Given the description of an element on the screen output the (x, y) to click on. 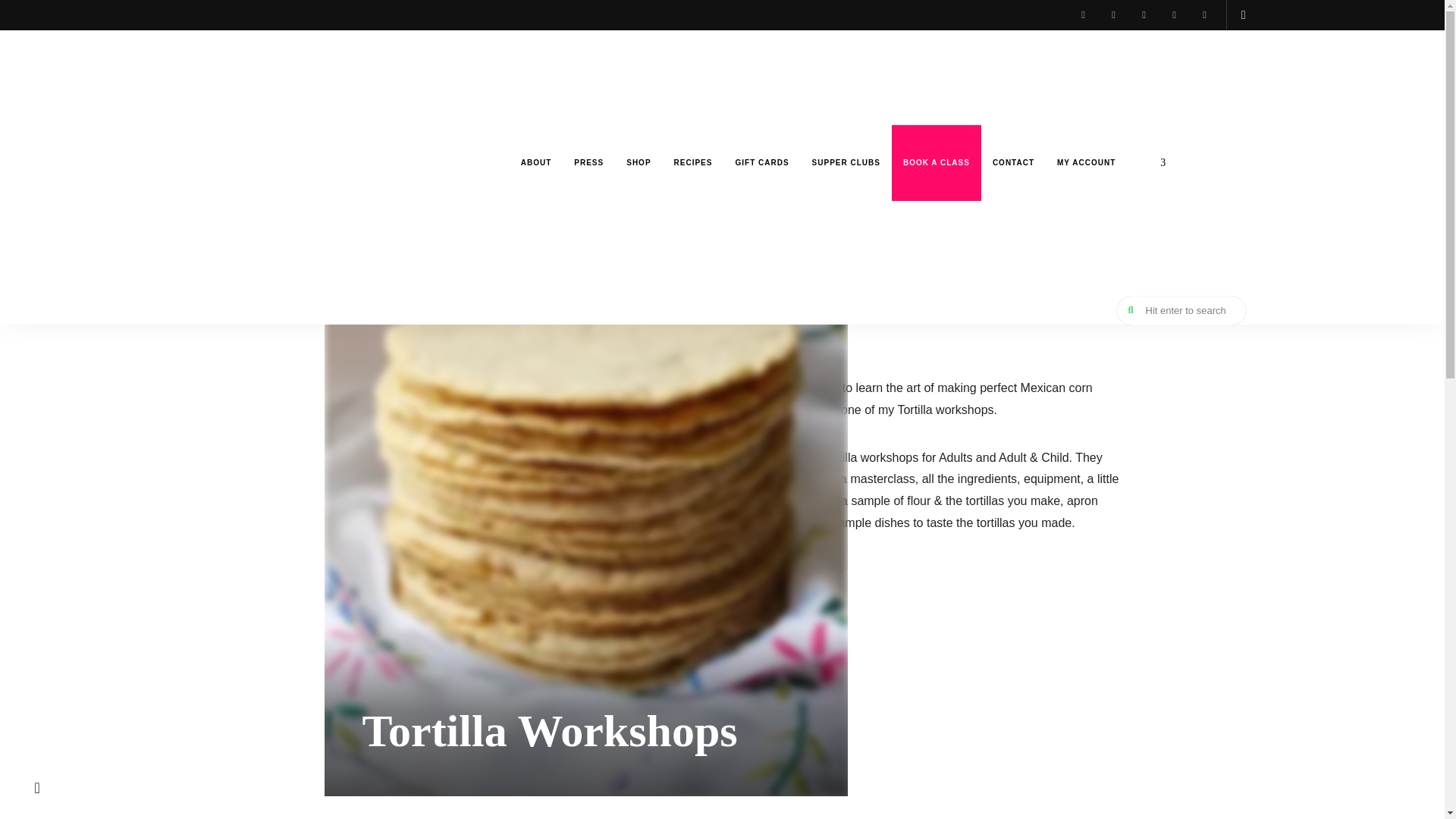
View your shopping cart (1242, 15)
Youtube (1173, 15)
Twitter (1143, 15)
GIFT CARDS (761, 162)
BOOK A CLASS (936, 162)
MY ACCOUNT (1085, 162)
Facebook (1114, 15)
Mexican Food Memories (213, 332)
Instagram (1083, 15)
SUPPER CLUBS (845, 162)
